Given the description of an element on the screen output the (x, y) to click on. 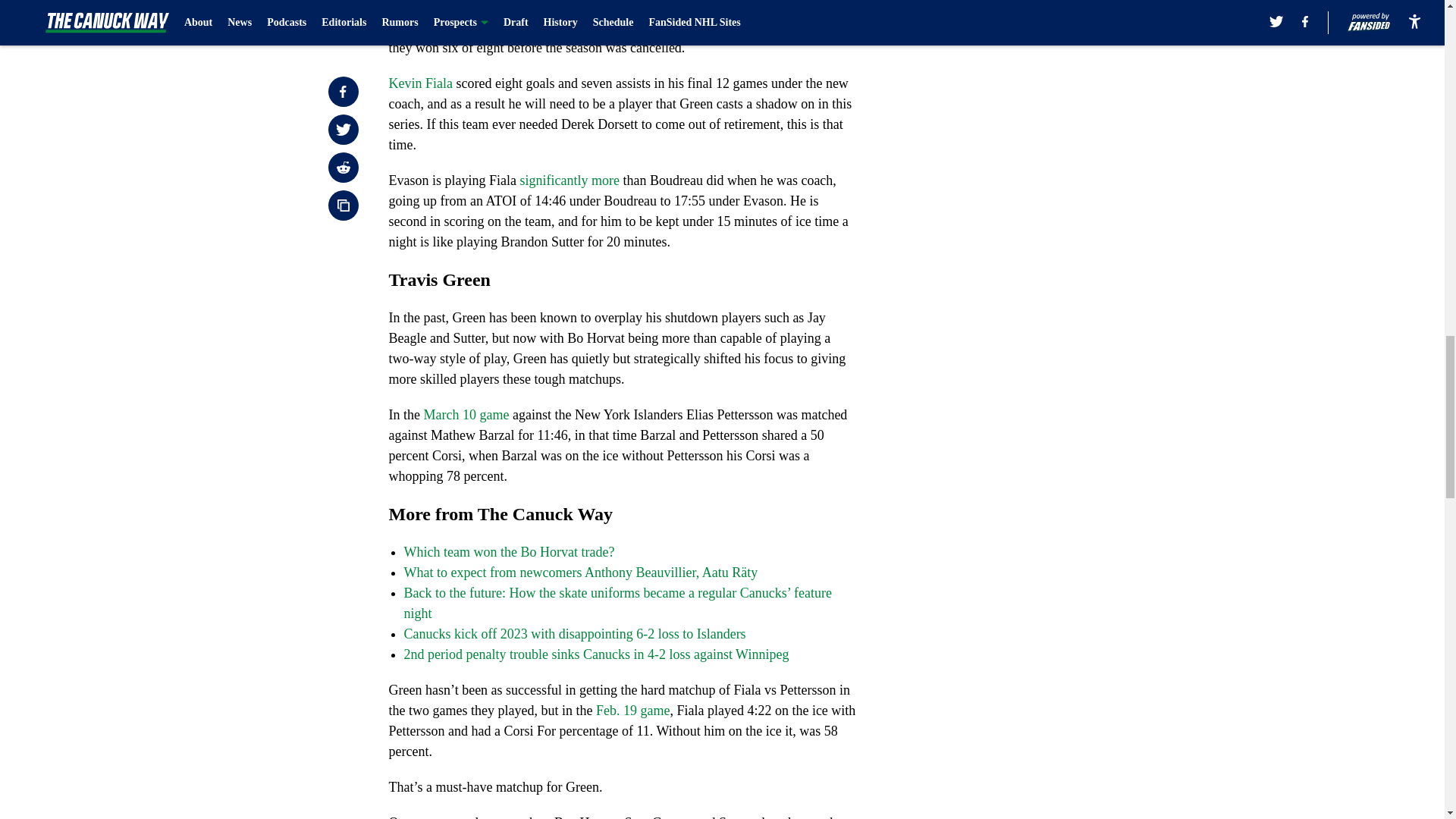
Feb. 19 game (632, 710)
March 10 game (465, 414)
Kevin Fiala (419, 83)
Which team won the Bo Horvat trade? (508, 551)
significantly more (568, 180)
